Given the description of an element on the screen output the (x, y) to click on. 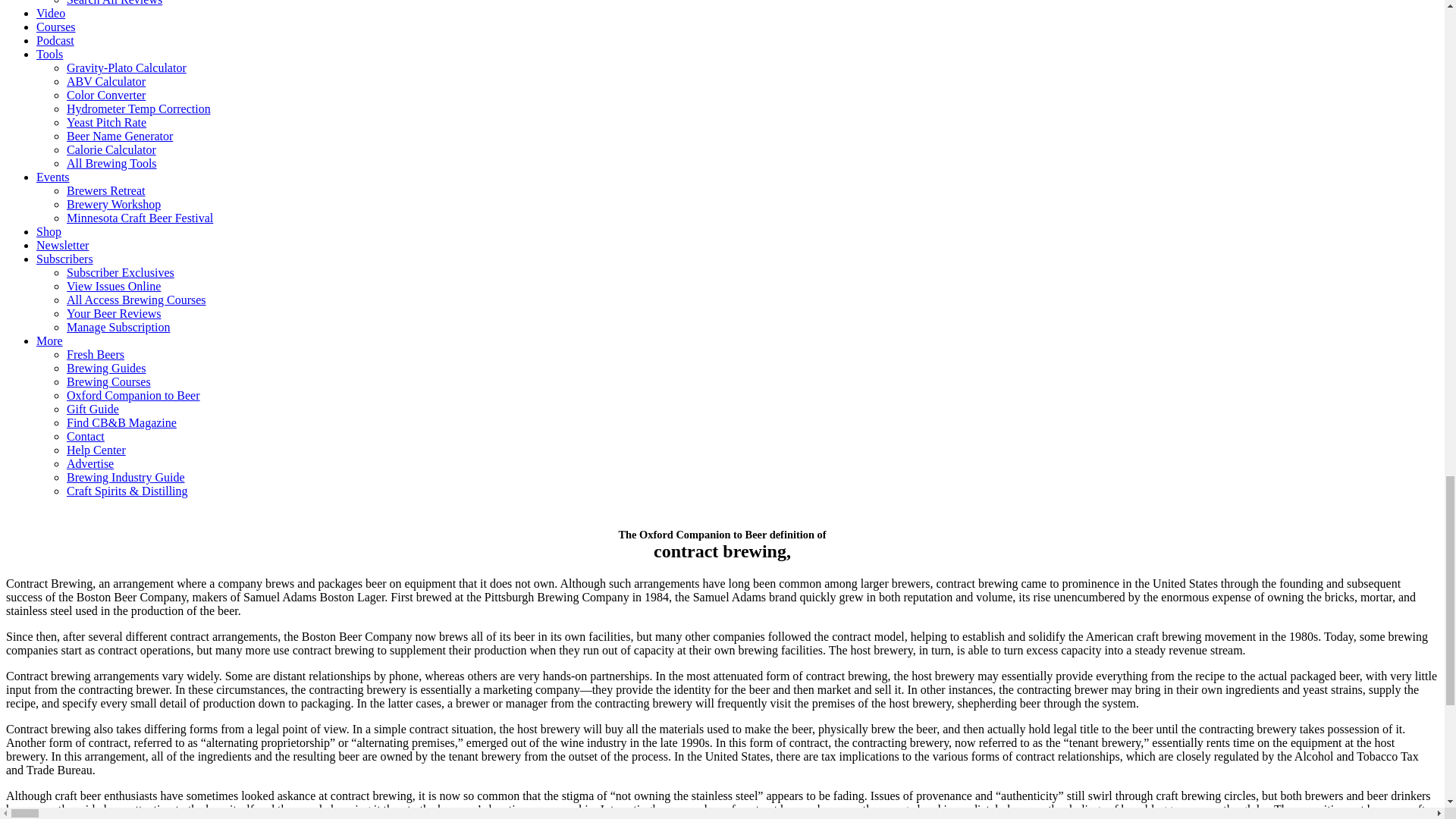
Podcast (55, 40)
Gravity-Plato Calculator (126, 67)
Yeast Pitch Rate (106, 122)
View Issues Online (113, 286)
Color Converter (105, 94)
Tools (49, 53)
Brewers Retreat (105, 190)
Courses (55, 26)
Search All Reviews (113, 2)
Beer Name Generator (119, 135)
Video (50, 12)
Events (52, 176)
Newsletter (62, 245)
Subscribers (64, 258)
Hydrometer Temp Correction (138, 108)
